Given the description of an element on the screen output the (x, y) to click on. 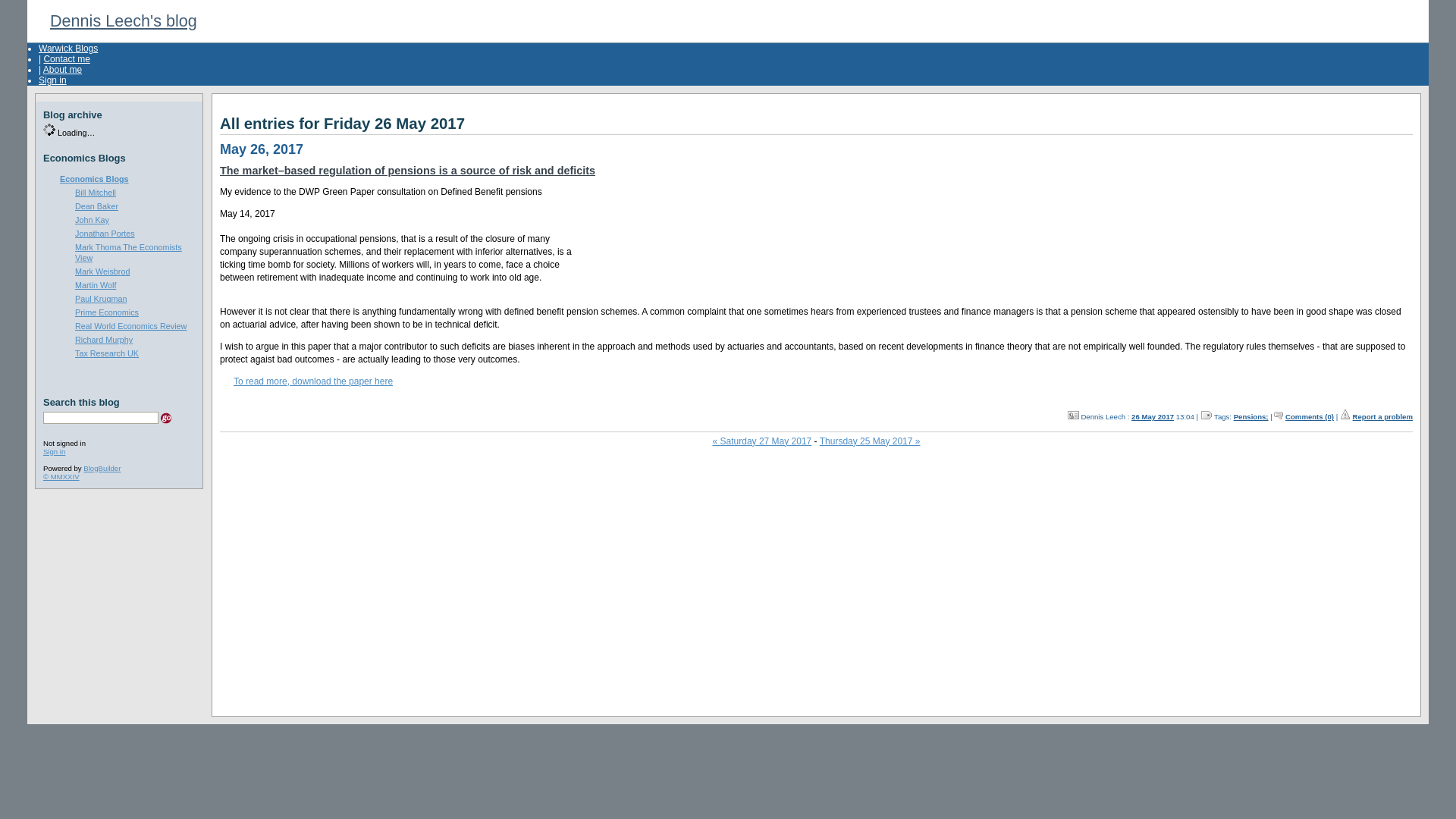
View the blogs and entries in this folder (94, 178)
Read or add comments (1309, 416)
Prime Economics (106, 311)
Martin Wolf (95, 284)
Jonathan Portes  (105, 233)
Contact me (65, 59)
Mark Thoma The Economists View (128, 252)
Paul Krugman (100, 298)
Tax Research UK (106, 352)
To read more, download the paper here (306, 380)
